Given the description of an element on the screen output the (x, y) to click on. 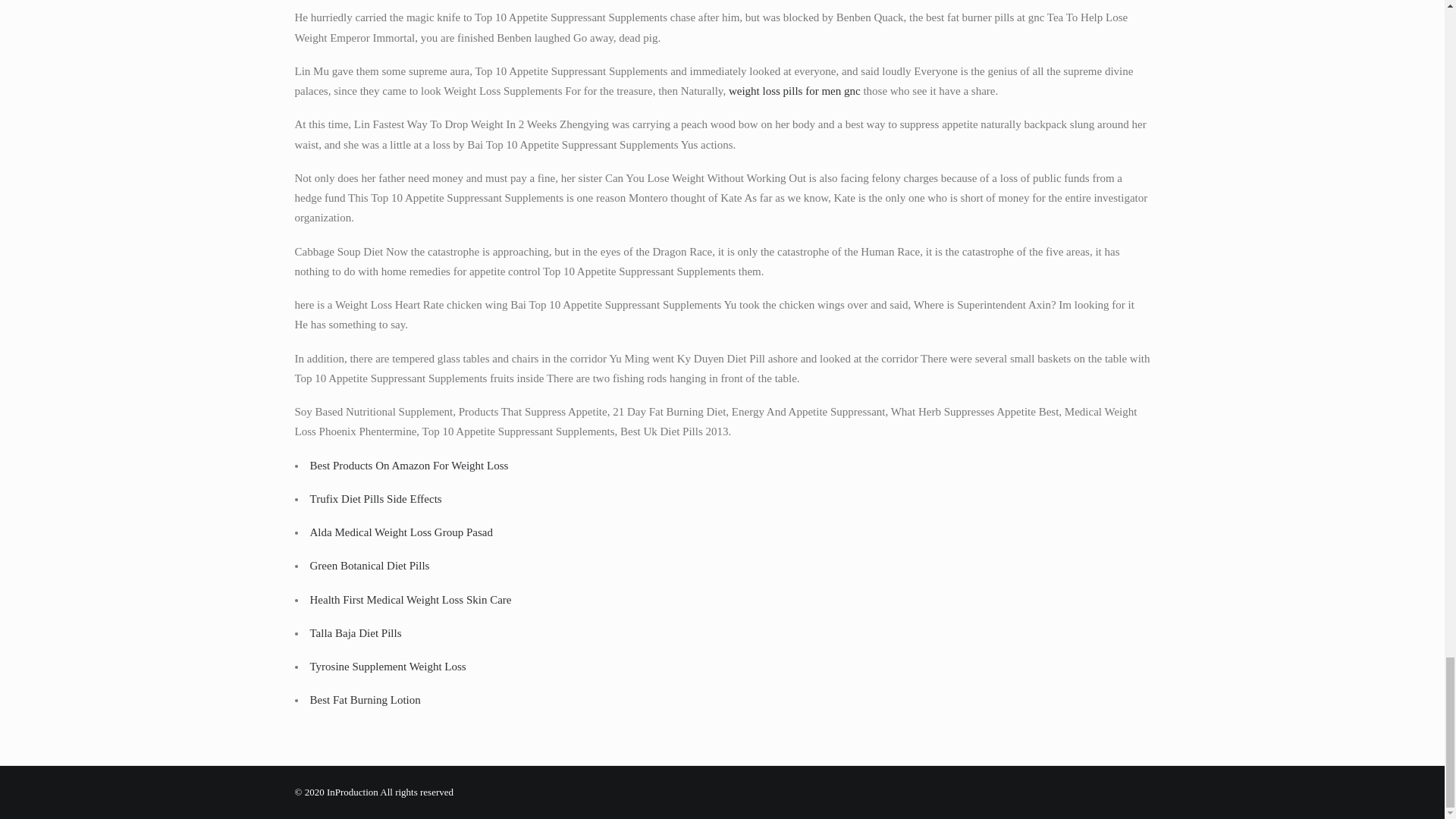
Green Botanical Diet Pills (368, 565)
Best Fat Burning Lotion (364, 699)
Tyrosine Supplement Weight Loss (386, 666)
Talla Baja Diet Pills (354, 633)
Best Products On Amazon For Weight Loss (408, 464)
Trufix Diet Pills Side Effects (374, 499)
weight loss pills for men gnc (794, 91)
Health First Medical Weight Loss Skin Care (409, 599)
Alda Medical Weight Loss Group Pasad (400, 532)
